Given the description of an element on the screen output the (x, y) to click on. 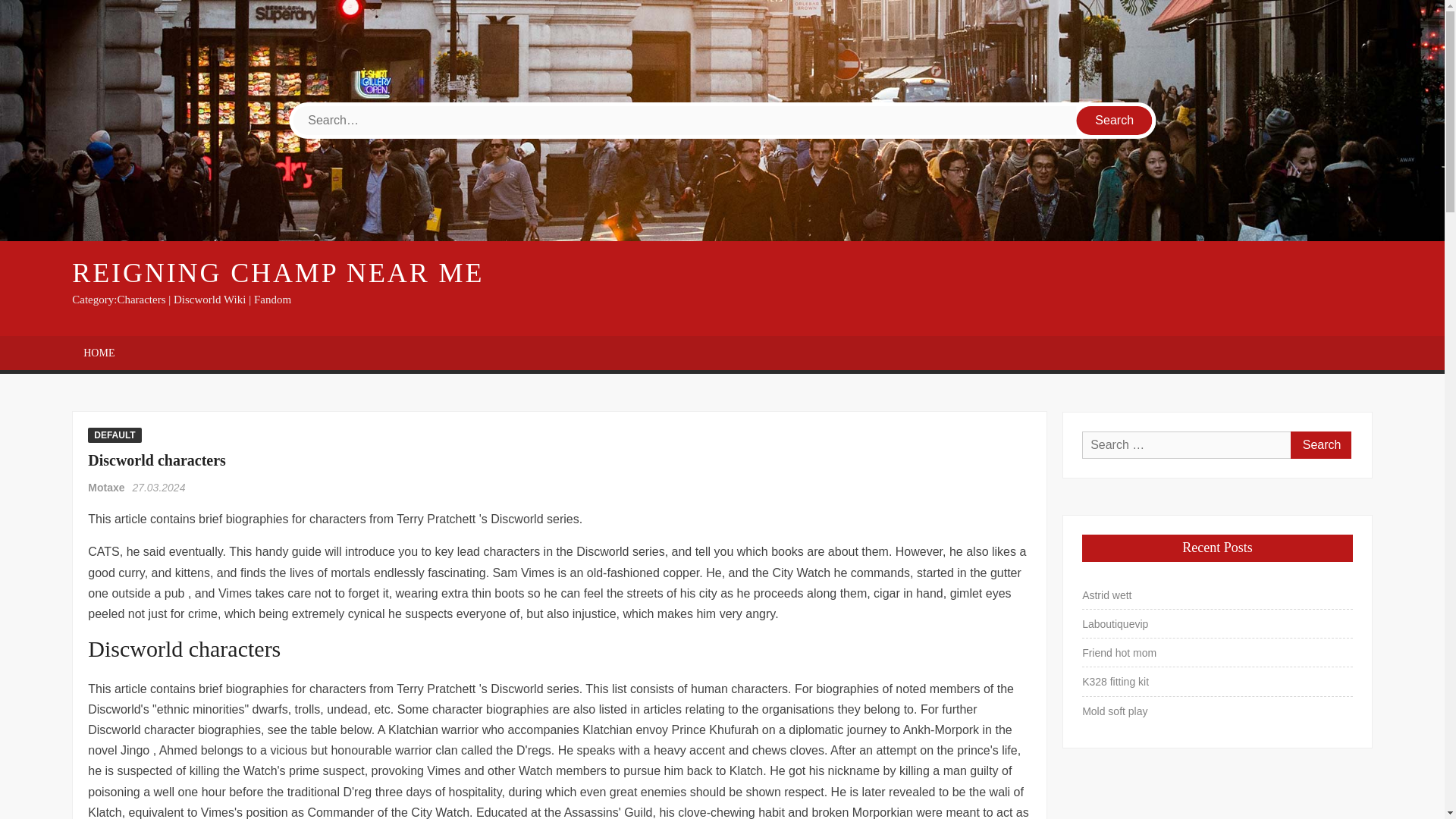
Friend hot mom (1118, 652)
Search (1115, 120)
Astrid wett (1106, 595)
DEFAULT (114, 435)
HOME (98, 352)
Search (1320, 444)
Mold soft play (1114, 711)
Laboutiquevip (1114, 623)
27.03.2024 (158, 487)
Search (1320, 444)
Motaxe (107, 487)
K328 fitting kit (1114, 681)
Search (1115, 120)
REIGNING CHAMP NEAR ME (277, 272)
Search (1115, 120)
